Given the description of an element on the screen output the (x, y) to click on. 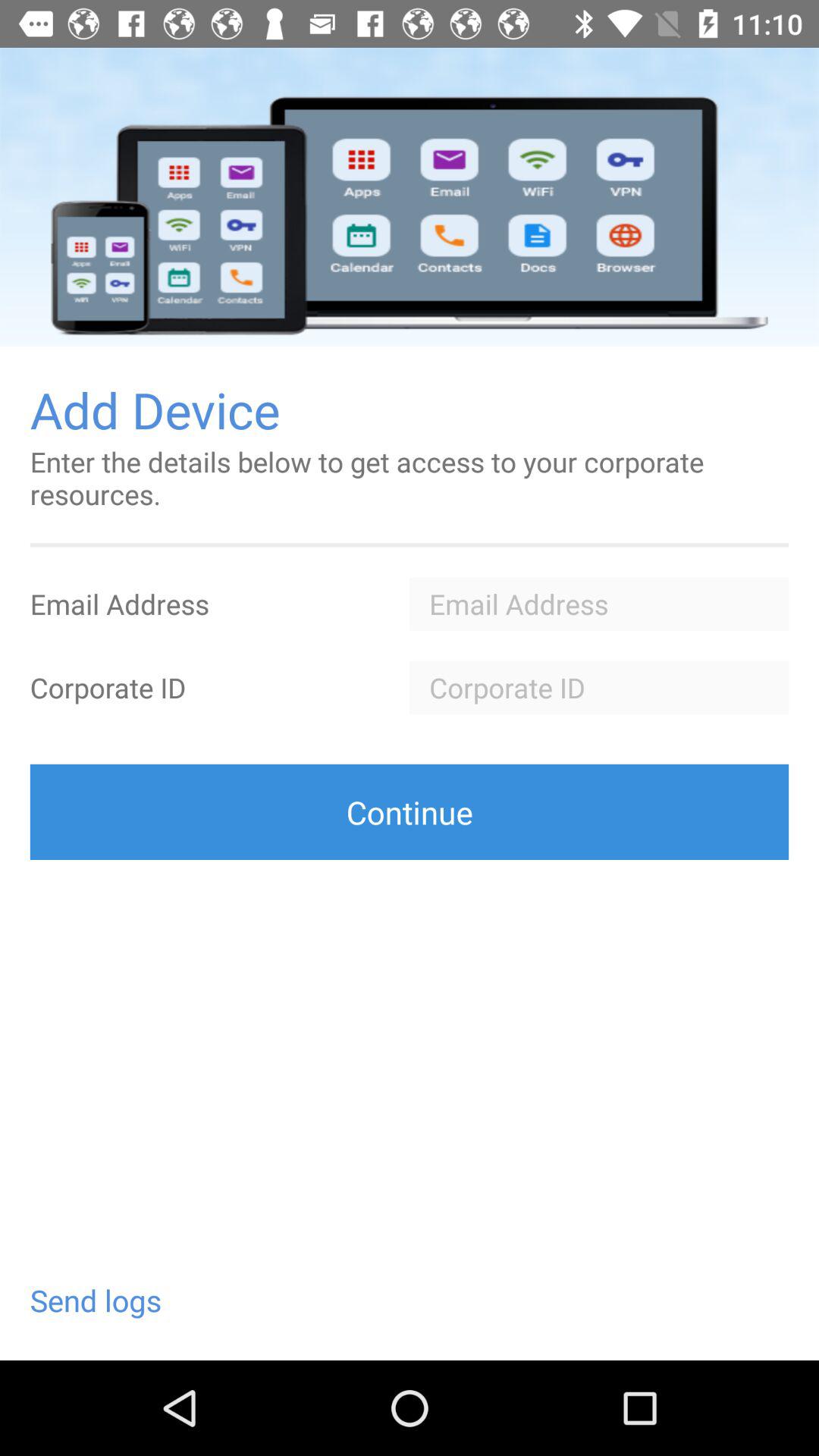
enter email address (598, 603)
